Given the description of an element on the screen output the (x, y) to click on. 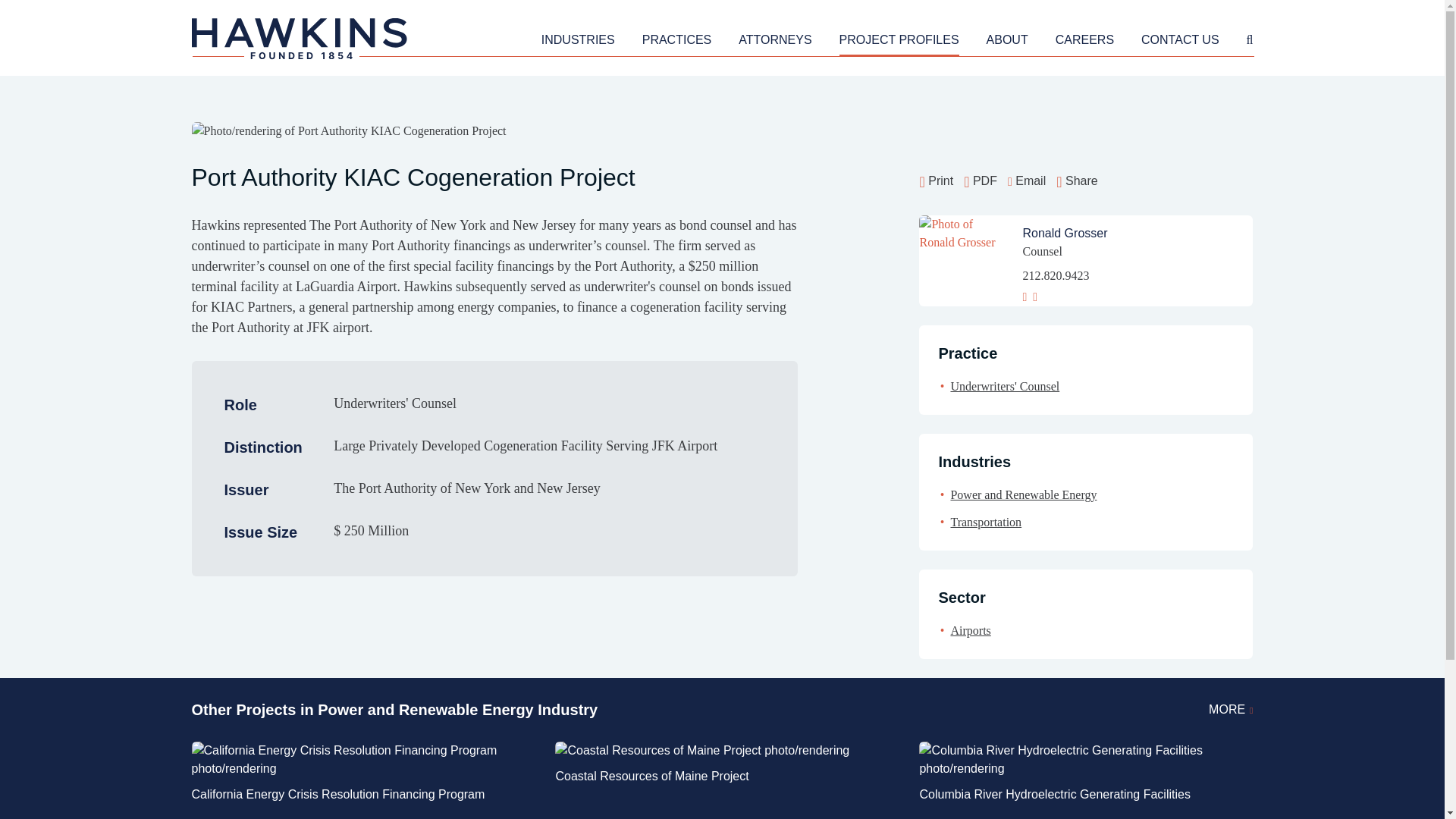
ATTORNEYS (774, 43)
Print Page (935, 180)
Email (1026, 180)
ABOUT (1007, 43)
Share Options (1077, 180)
Email Page (1026, 180)
INDUSTRIES (577, 43)
CONTACT US (1180, 43)
PDF Print (980, 180)
Share (1077, 180)
